Given the description of an element on the screen output the (x, y) to click on. 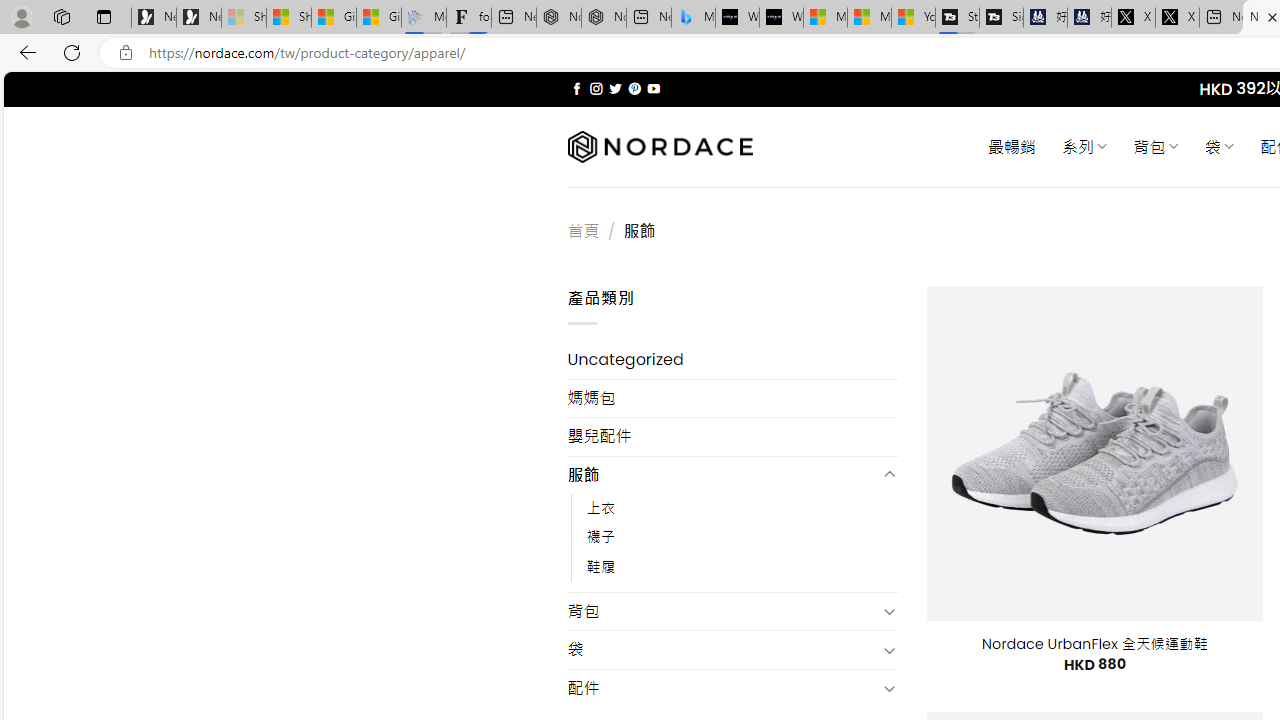
Back (24, 52)
Personal Profile (21, 16)
Workspaces (61, 16)
Nordace - #1 Japanese Best-Seller - Siena Smart Backpack (603, 17)
Follow on YouTube (653, 88)
Refresh (72, 52)
